Given the description of an element on the screen output the (x, y) to click on. 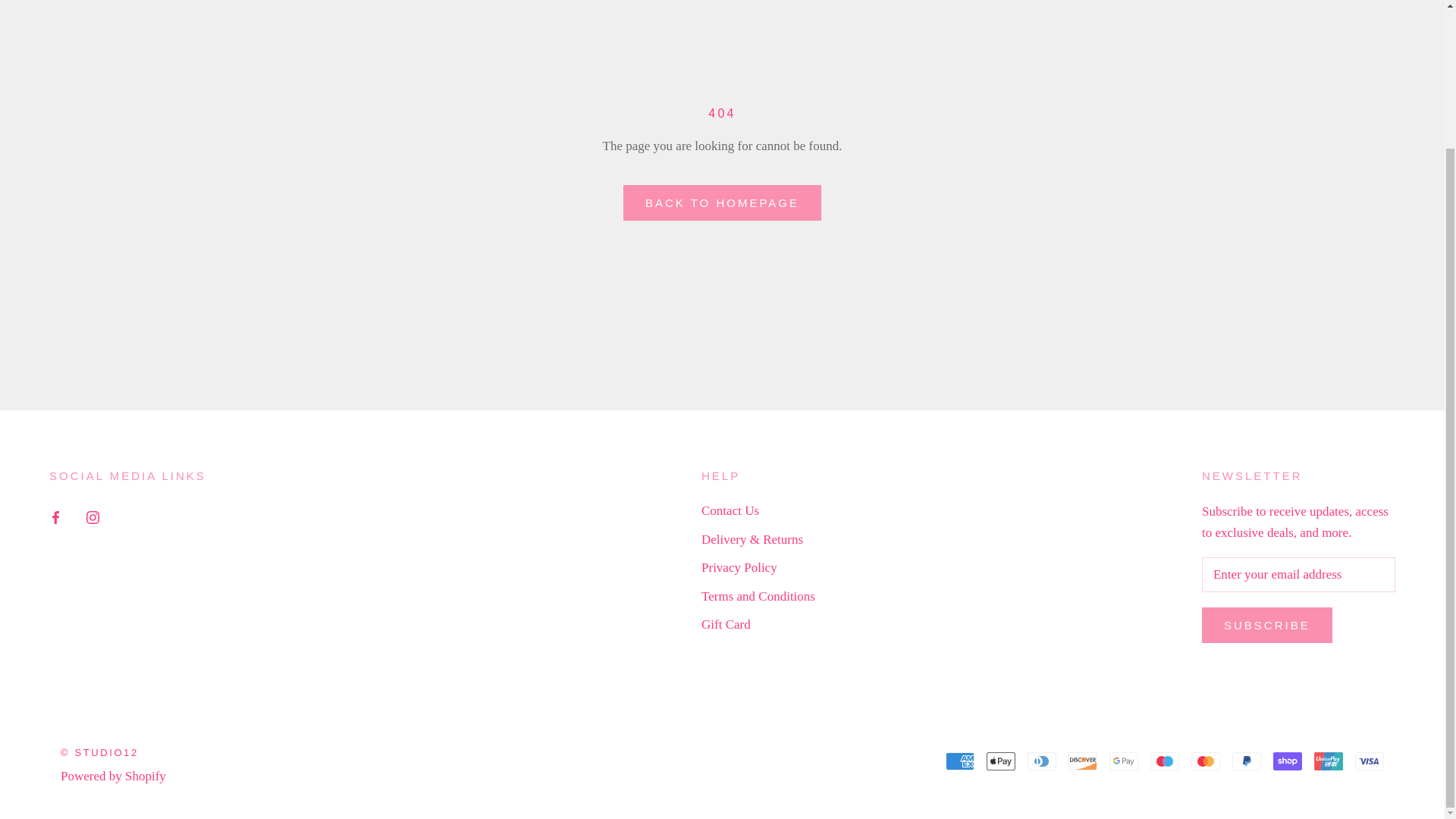
Mastercard (1205, 761)
Google Pay (1123, 761)
Discover (1082, 761)
PayPal (1245, 761)
American Express (959, 761)
Diners Club (1042, 761)
Maestro (1164, 761)
Apple Pay (1000, 761)
Visa (1369, 761)
Shop Pay (1286, 761)
Union Pay (1328, 761)
